Given the description of an element on the screen output the (x, y) to click on. 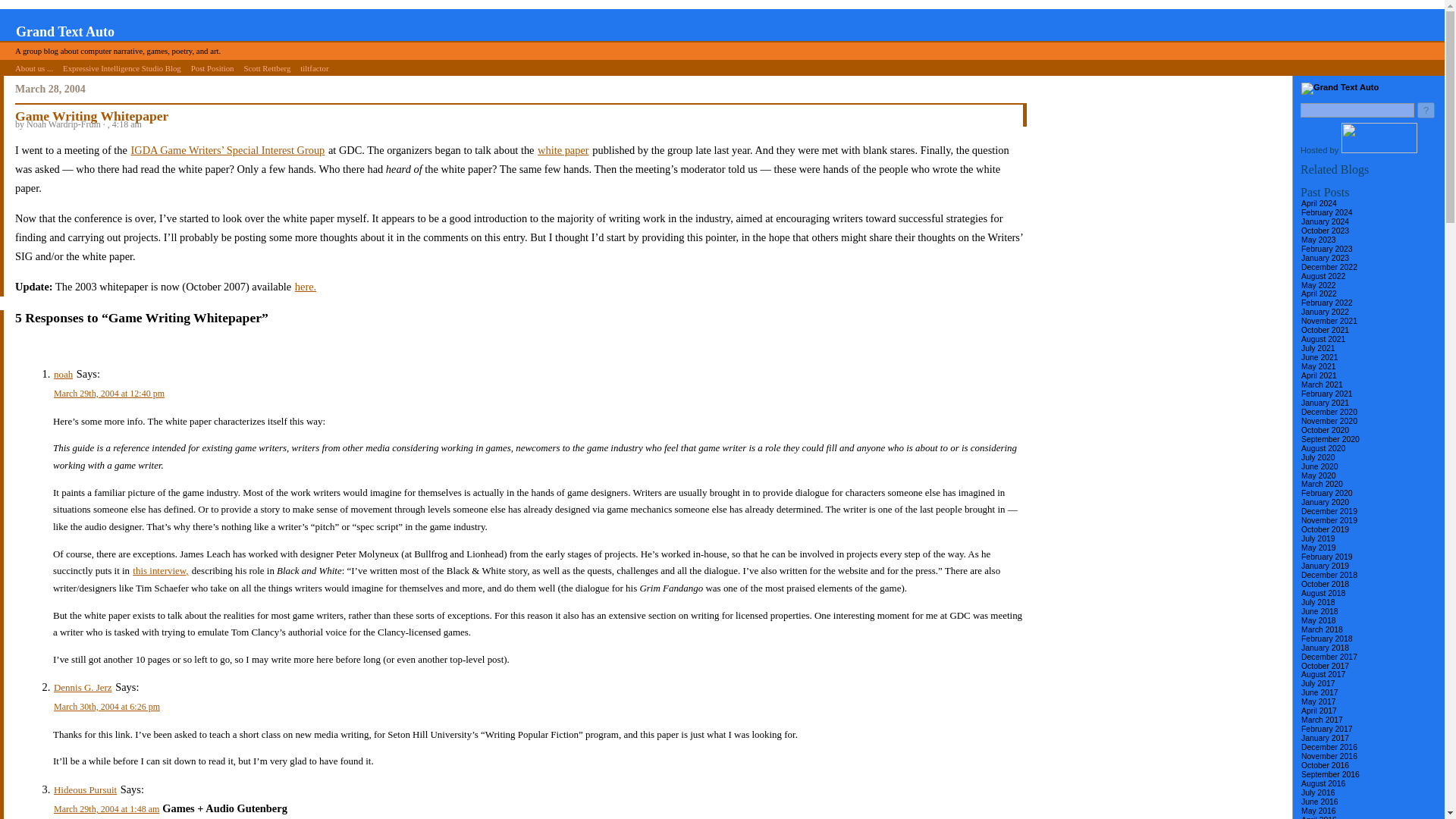
? (1425, 109)
September 2020 (1329, 439)
August 2021 (1322, 338)
June 2020 (1319, 466)
October 2023 (1324, 230)
? (1425, 109)
January 2023 (1324, 257)
December 2022 (1329, 266)
About us ... (33, 67)
July 2021 (1317, 347)
